Given the description of an element on the screen output the (x, y) to click on. 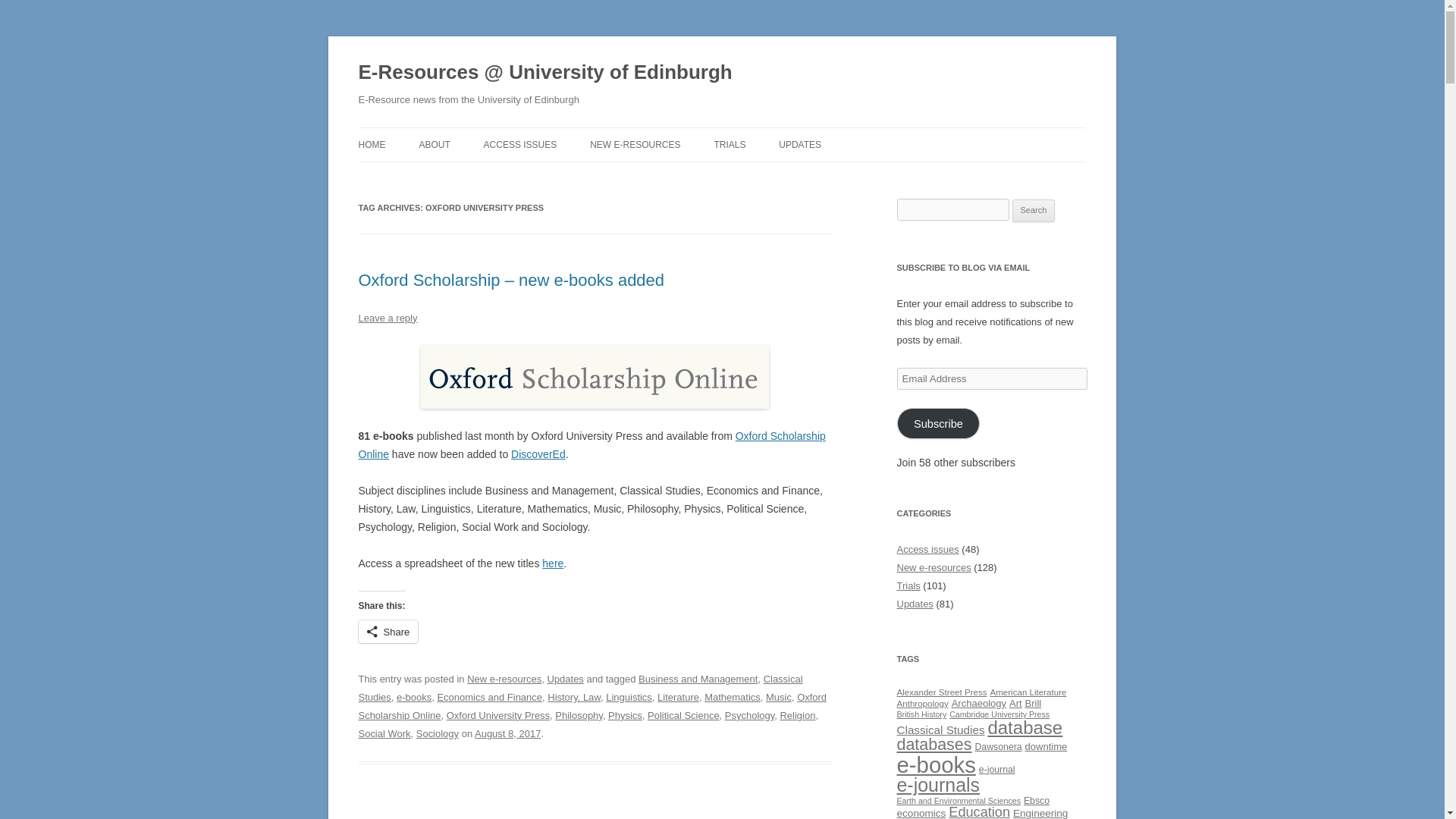
Oxford Scholarship Online (592, 706)
Psychology (749, 715)
Economics and Finance (488, 696)
HOME (371, 144)
Sociology (437, 733)
DiscoverEd (538, 453)
Classical Studies (580, 687)
Literature (678, 696)
ABOUT (434, 144)
New e-resources (504, 678)
Philosophy (578, 715)
Linguistics (628, 696)
Oxford Scholarship Online (591, 444)
here (552, 563)
Leave a reply (387, 317)
